Given the description of an element on the screen output the (x, y) to click on. 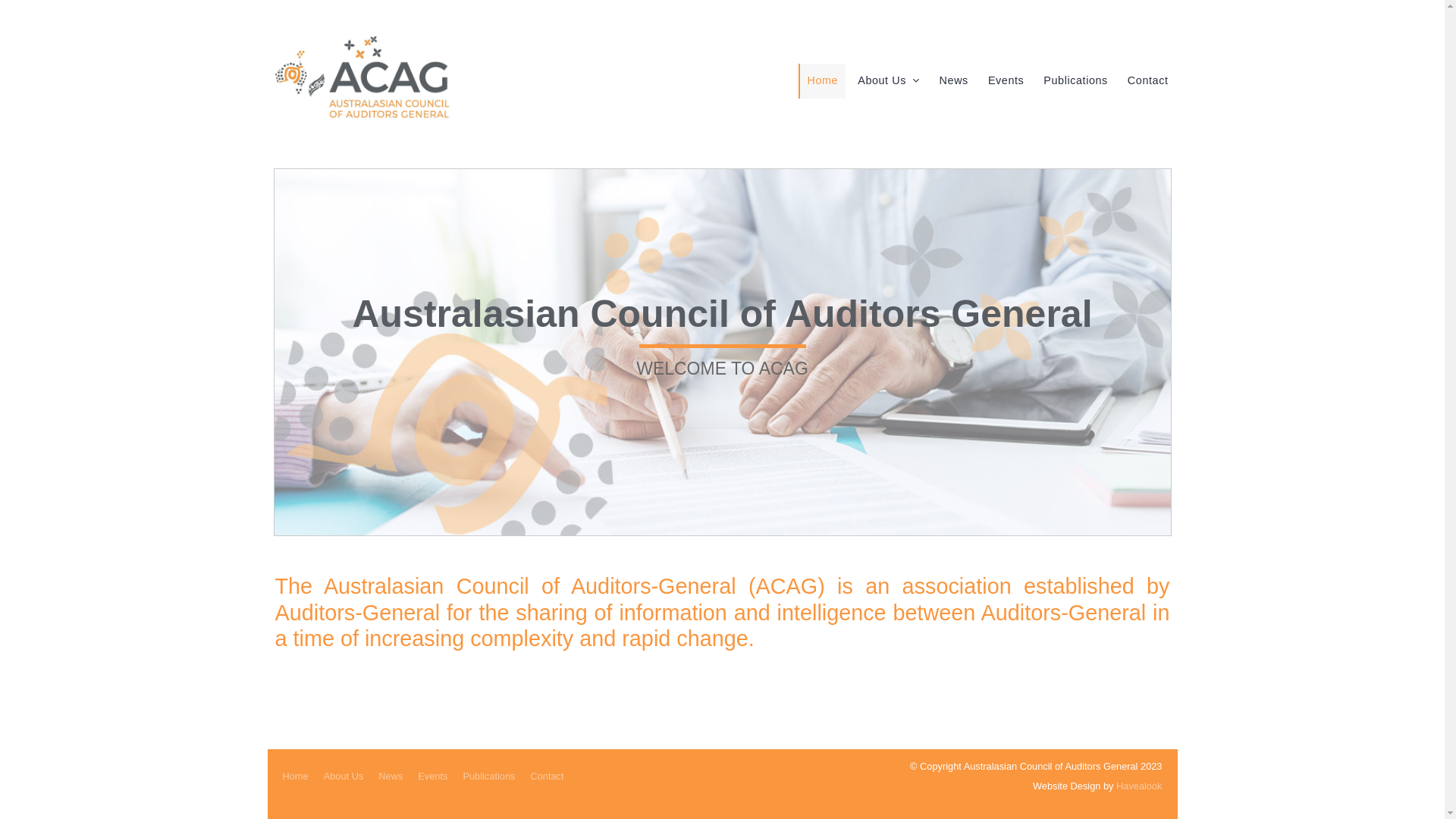
Havealook Element type: text (1138, 785)
Home Element type: text (294, 776)
Events Element type: text (432, 776)
About Us Element type: text (887, 80)
News Element type: text (390, 776)
Home Element type: text (821, 80)
News Element type: text (952, 80)
Events Element type: text (1005, 80)
About Us Element type: text (343, 776)
Contact Element type: text (546, 776)
Publications Element type: text (488, 776)
Publications Element type: text (1074, 80)
Contact Element type: text (1147, 80)
